Given the description of an element on the screen output the (x, y) to click on. 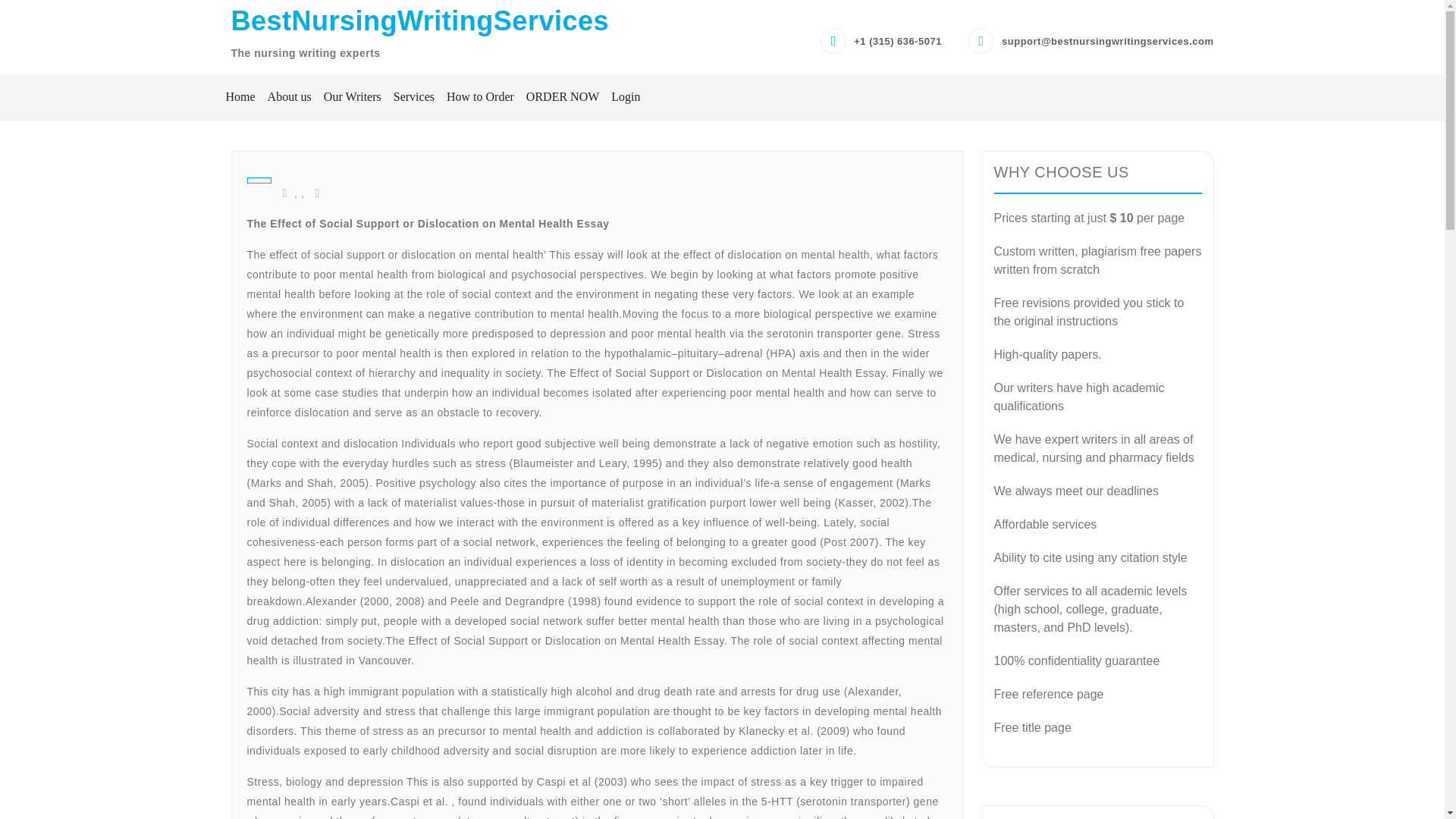
BestNursingWritingServices (419, 20)
Services (414, 96)
About us (289, 96)
Home (240, 96)
How to Order (480, 96)
Our Writers (352, 96)
, , (294, 192)
Login (622, 96)
ORDER NOW (562, 96)
